Given the description of an element on the screen output the (x, y) to click on. 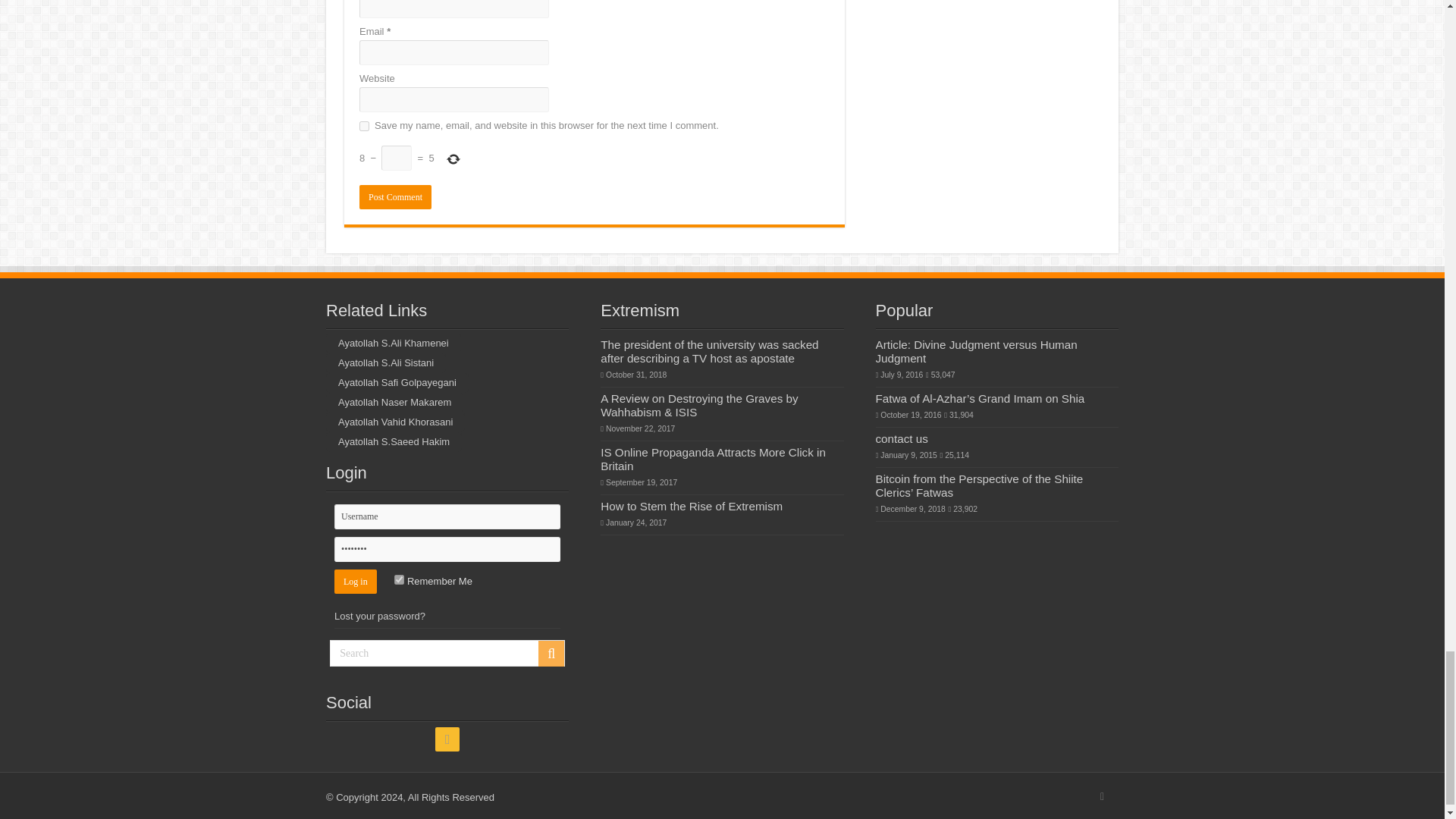
Post Comment (394, 197)
Username (447, 516)
Log in (355, 581)
yes (364, 126)
forever (399, 579)
Password (447, 549)
Search (447, 652)
